Given the description of an element on the screen output the (x, y) to click on. 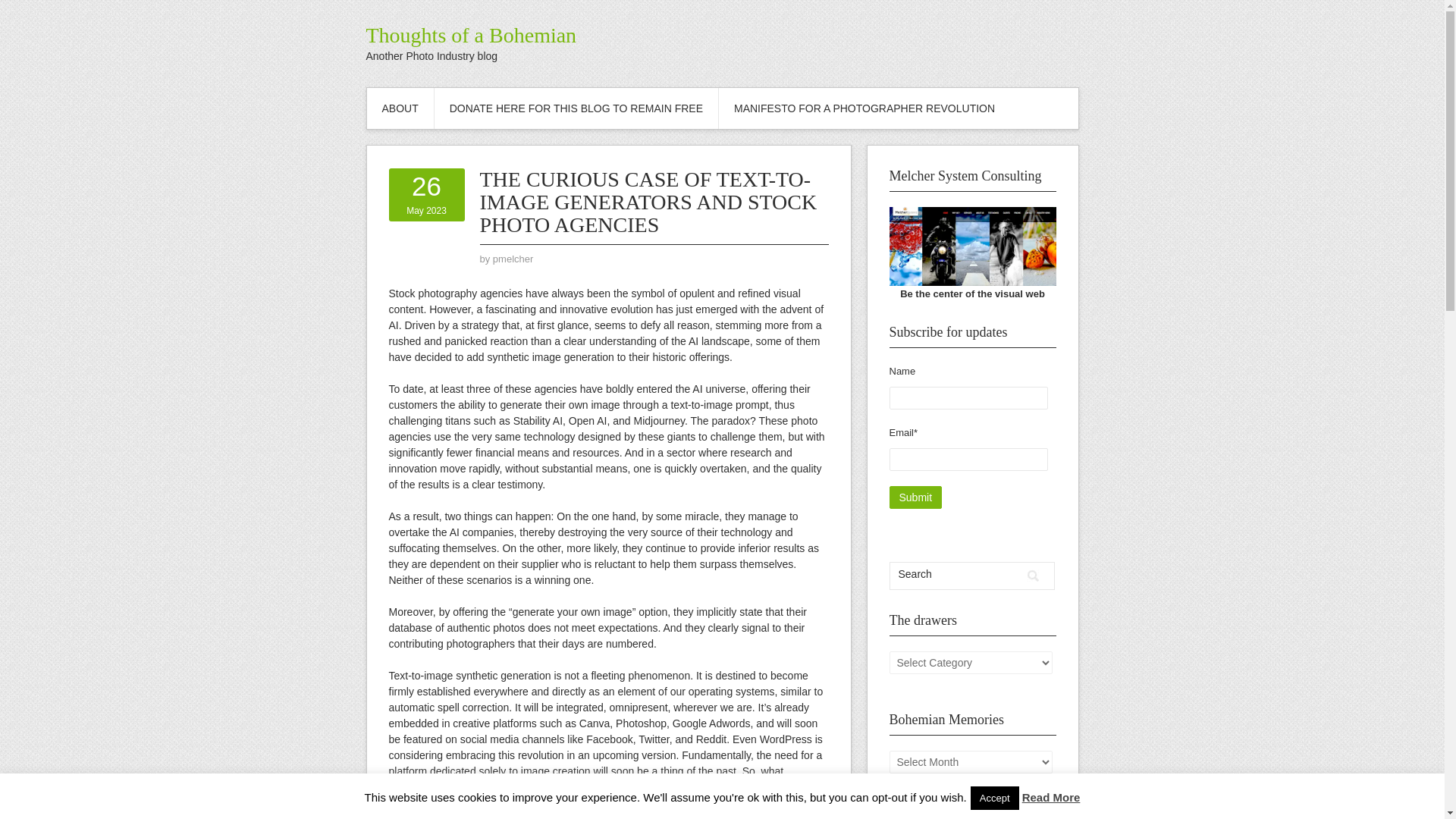
pmelcher (512, 258)
DONATE HERE FOR THIS BLOG TO REMAIN FREE (575, 107)
Submit (915, 497)
Search (1032, 575)
Submit (426, 194)
Thoughts of a Bohemian (915, 497)
ABOUT (470, 34)
MANIFESTO FOR A PHOTOGRAPHER REVOLUTION (399, 107)
May 26, 2023 8:18 am (864, 107)
